Given the description of an element on the screen output the (x, y) to click on. 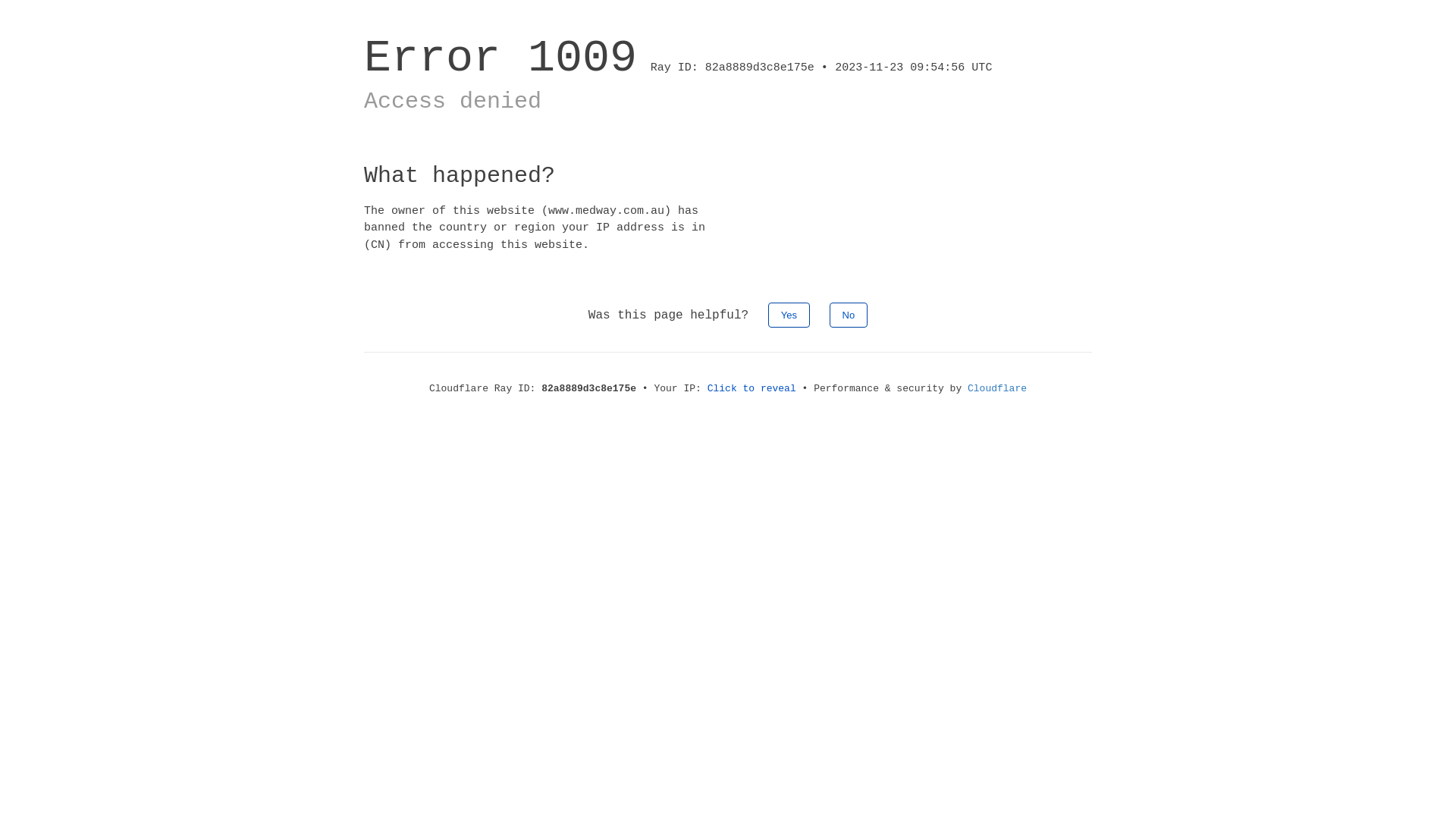
Cloudflare Element type: text (996, 388)
Click to reveal Element type: text (751, 388)
Yes Element type: text (788, 314)
No Element type: text (848, 314)
